Given the description of an element on the screen output the (x, y) to click on. 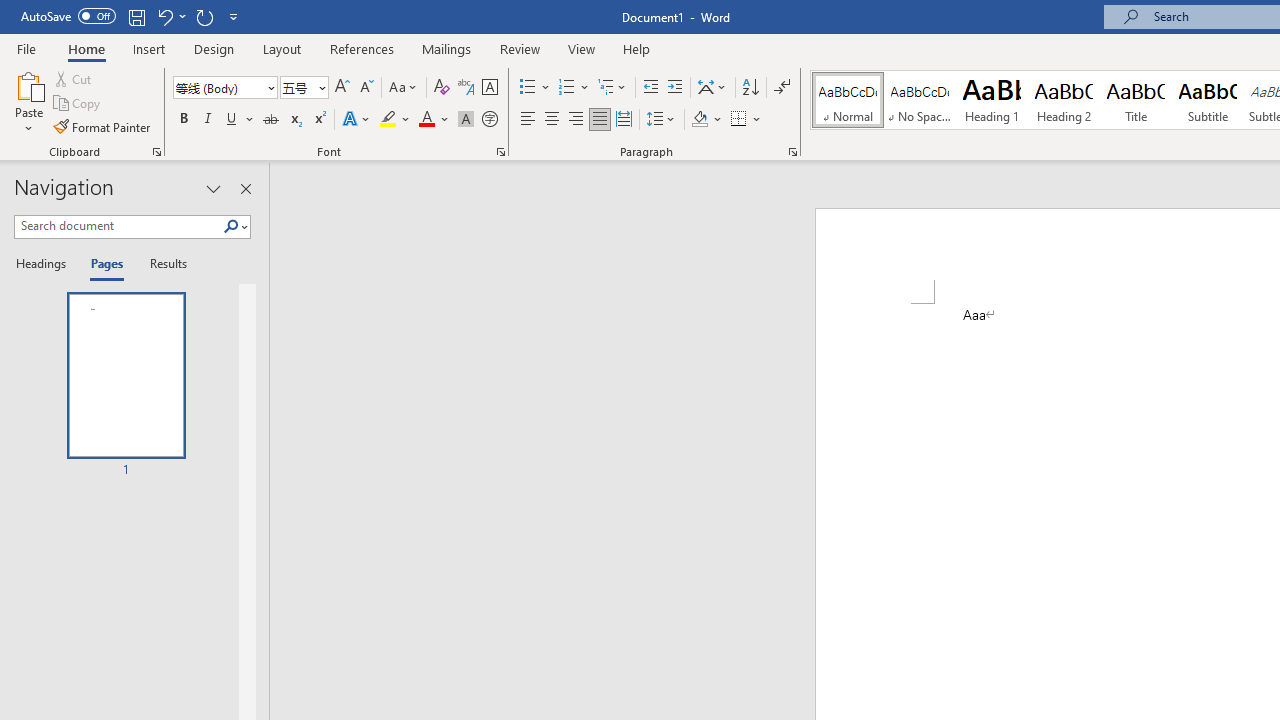
Heading 2 (1063, 100)
